Given the description of an element on the screen output the (x, y) to click on. 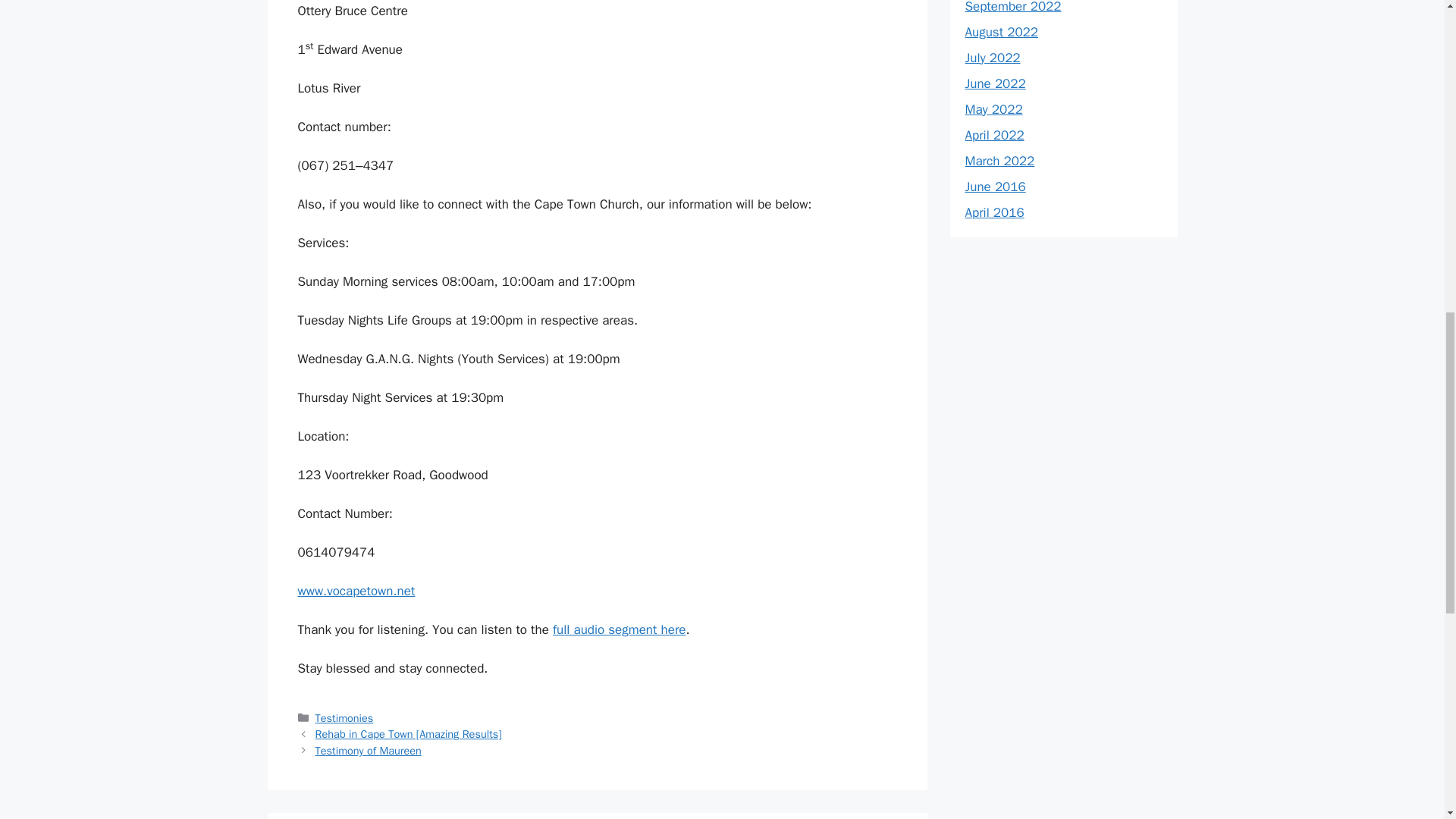
Testimony of Maureen (368, 750)
full audio segment here (619, 629)
www.vocapetown.net (355, 590)
Testimonies (344, 717)
